Given the description of an element on the screen output the (x, y) to click on. 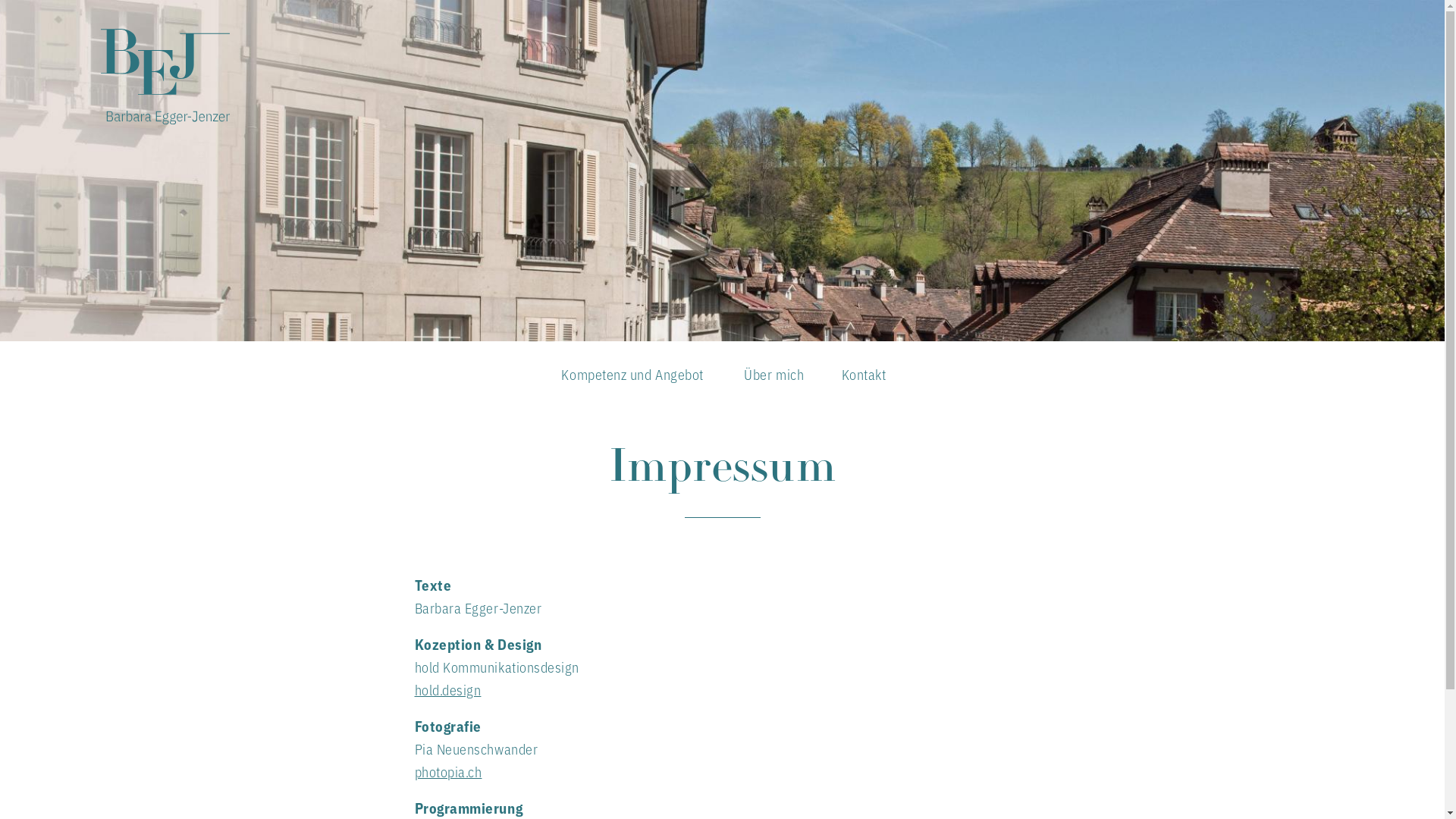
hold.design Element type: text (447, 689)
Kompetenz und Angebot Element type: text (632, 377)
Kontakt Element type: text (863, 377)
photopia.ch Element type: text (447, 771)
